Given the description of an element on the screen output the (x, y) to click on. 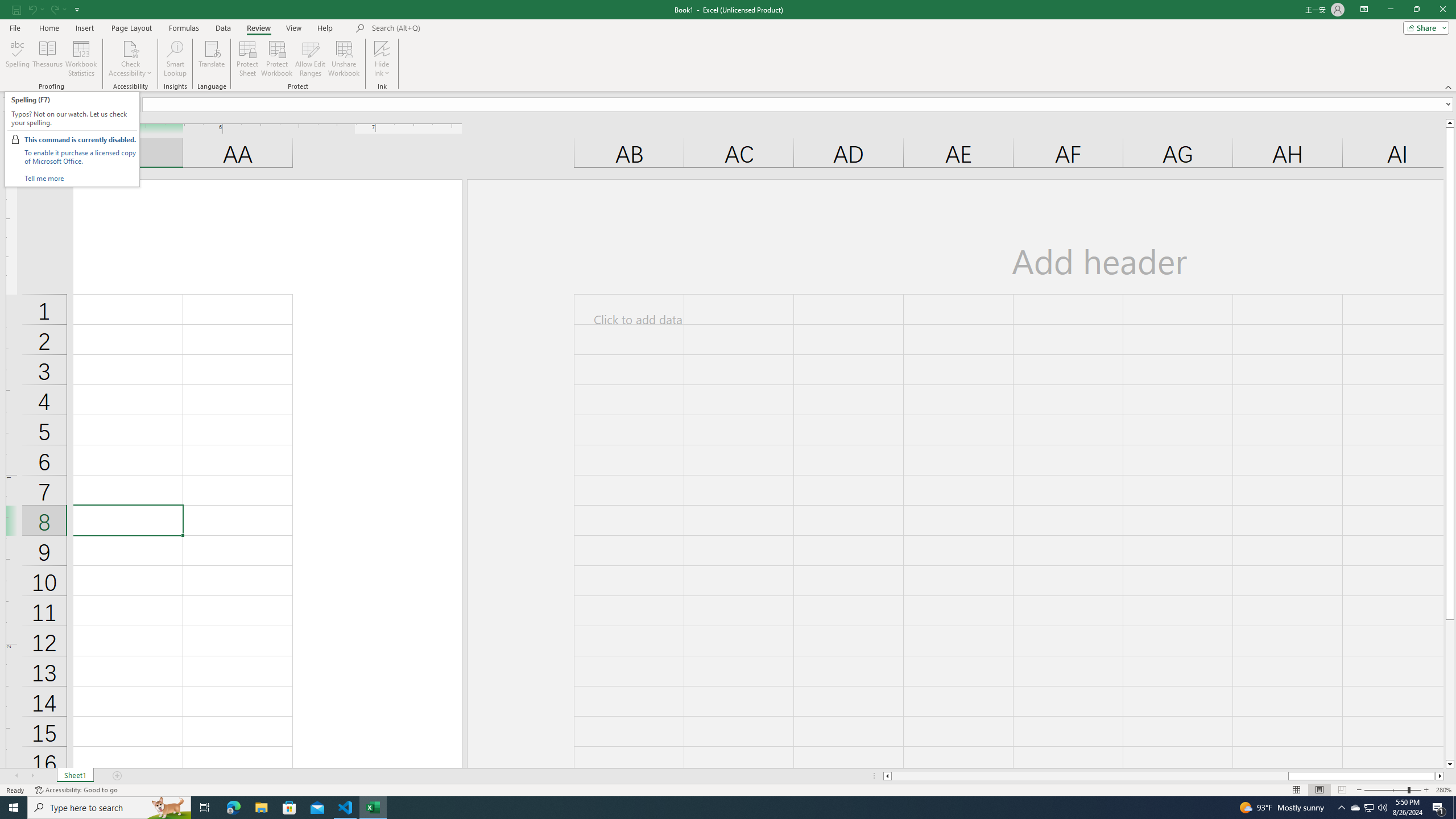
Smart Lookup (175, 58)
